Given the description of an element on the screen output the (x, y) to click on. 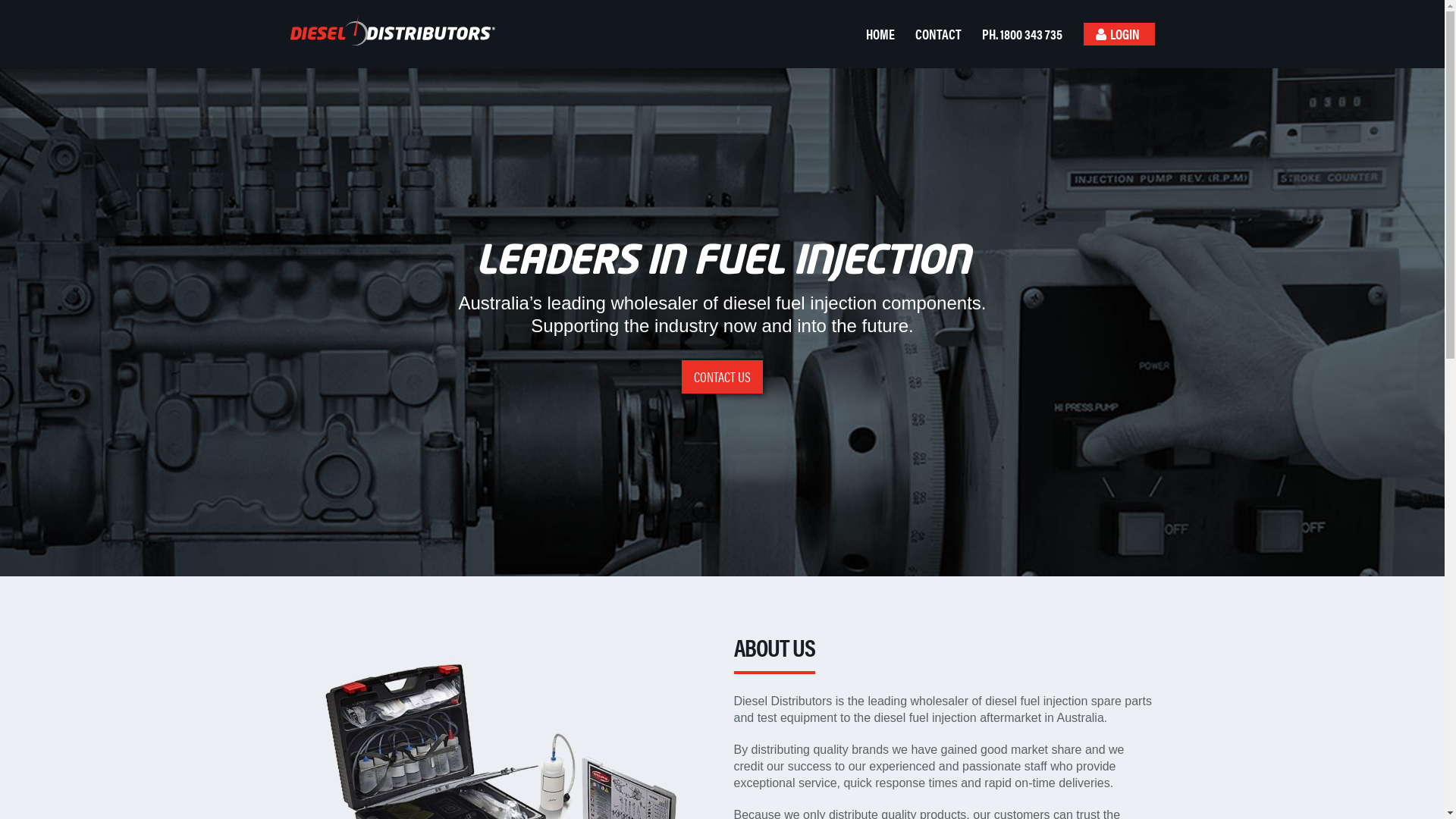
HOME Element type: text (882, 34)
LOGIN Element type: text (1118, 33)
CONTACT US Element type: text (721, 376)
Diesel Distributors Element type: text (387, 30)
PH. 1800 343 735 Element type: text (1025, 34)
CONTACT Element type: text (941, 34)
